Given the description of an element on the screen output the (x, y) to click on. 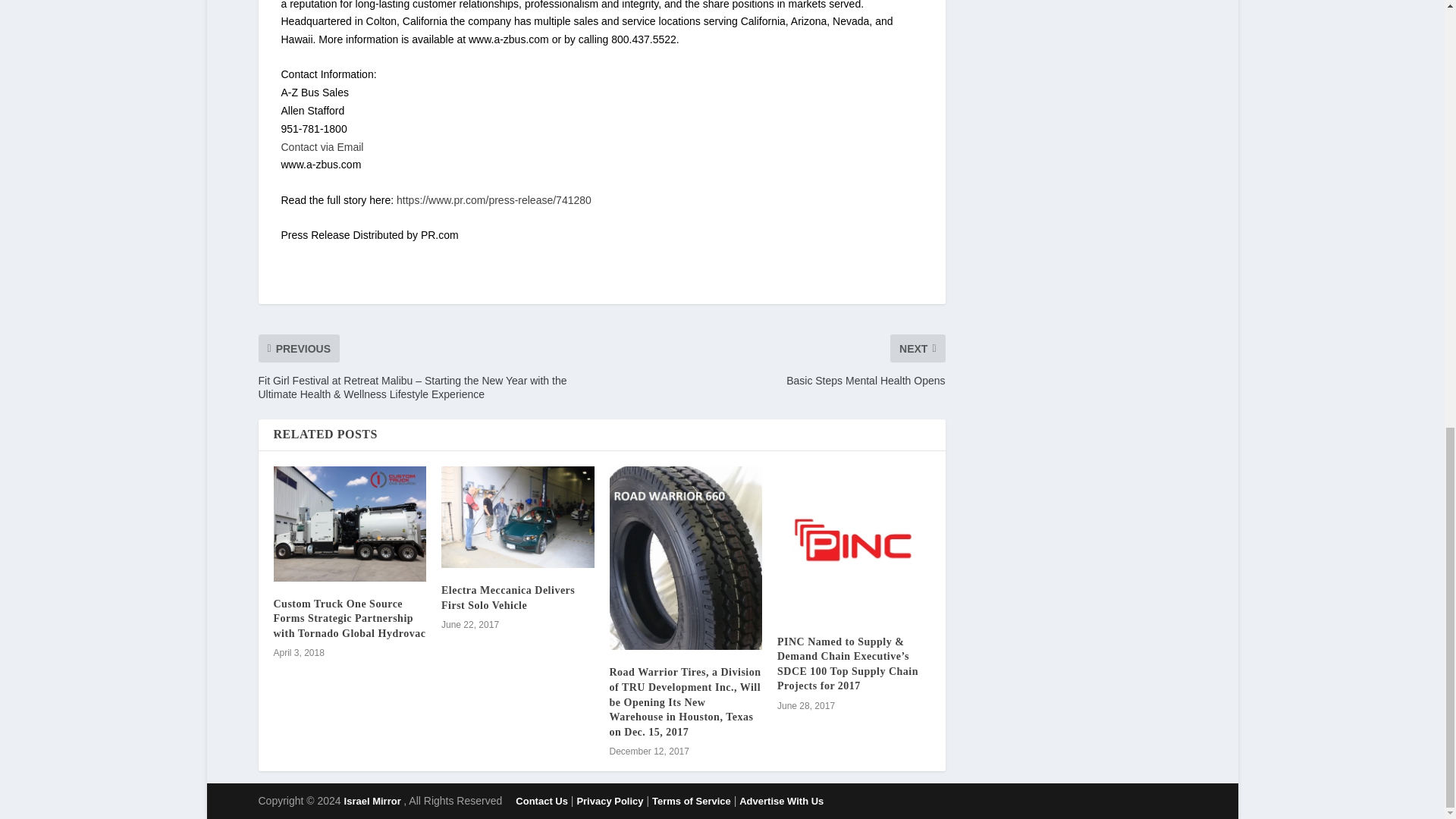
Contact via Email (321, 146)
Electra Meccanica Delivers First Solo Vehicle (517, 517)
